Given the description of an element on the screen output the (x, y) to click on. 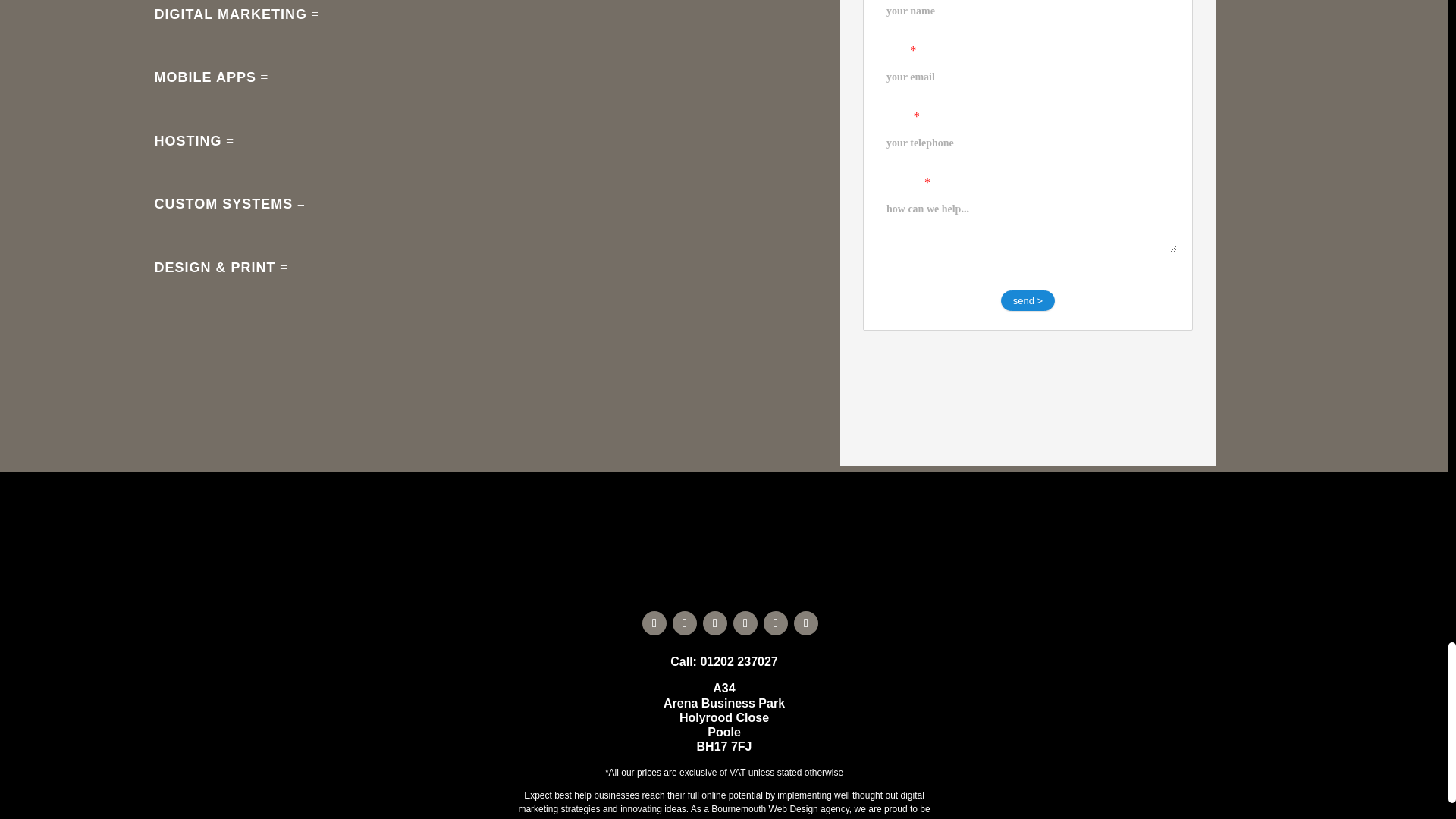
Follow on TikTok (684, 622)
Follow on Facebook (654, 622)
Footer Logo (724, 579)
Follow on LinkedIn (745, 622)
Follow on Youtube (714, 622)
banner eb logo (723, 524)
